Given the description of an element on the screen output the (x, y) to click on. 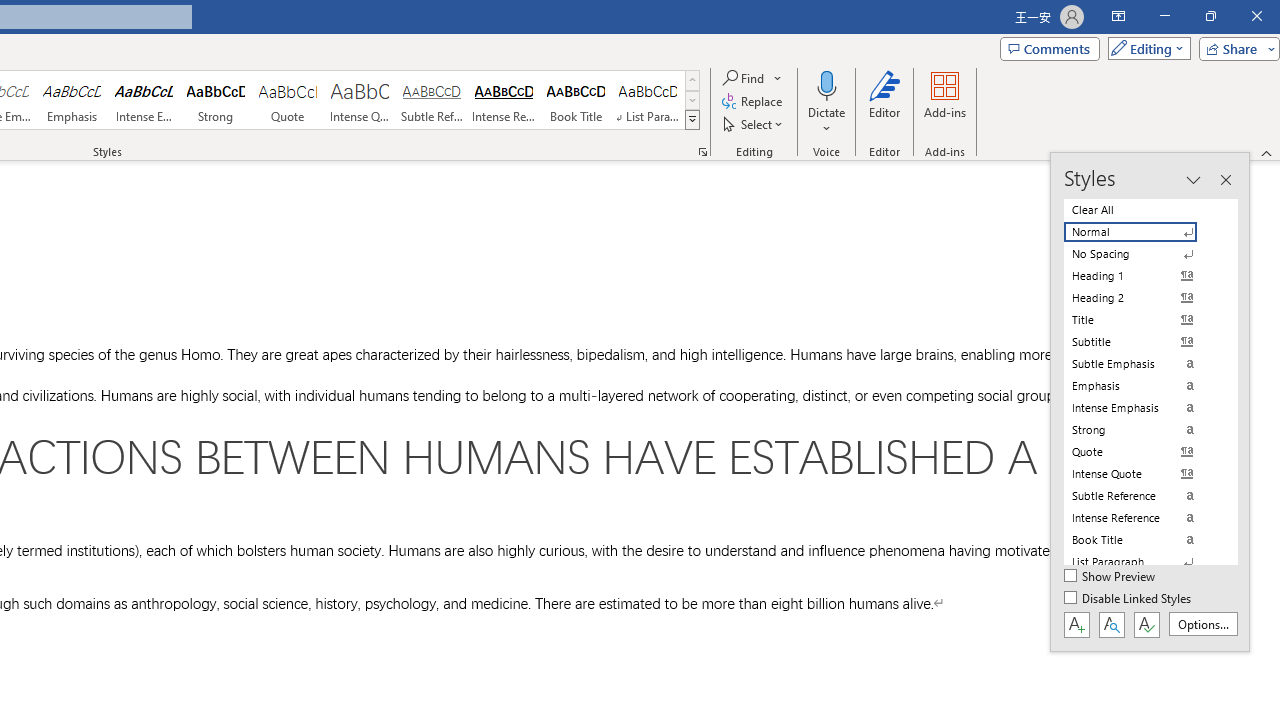
Intense Quote (359, 100)
Subtle Reference (431, 100)
